Given the description of an element on the screen output the (x, y) to click on. 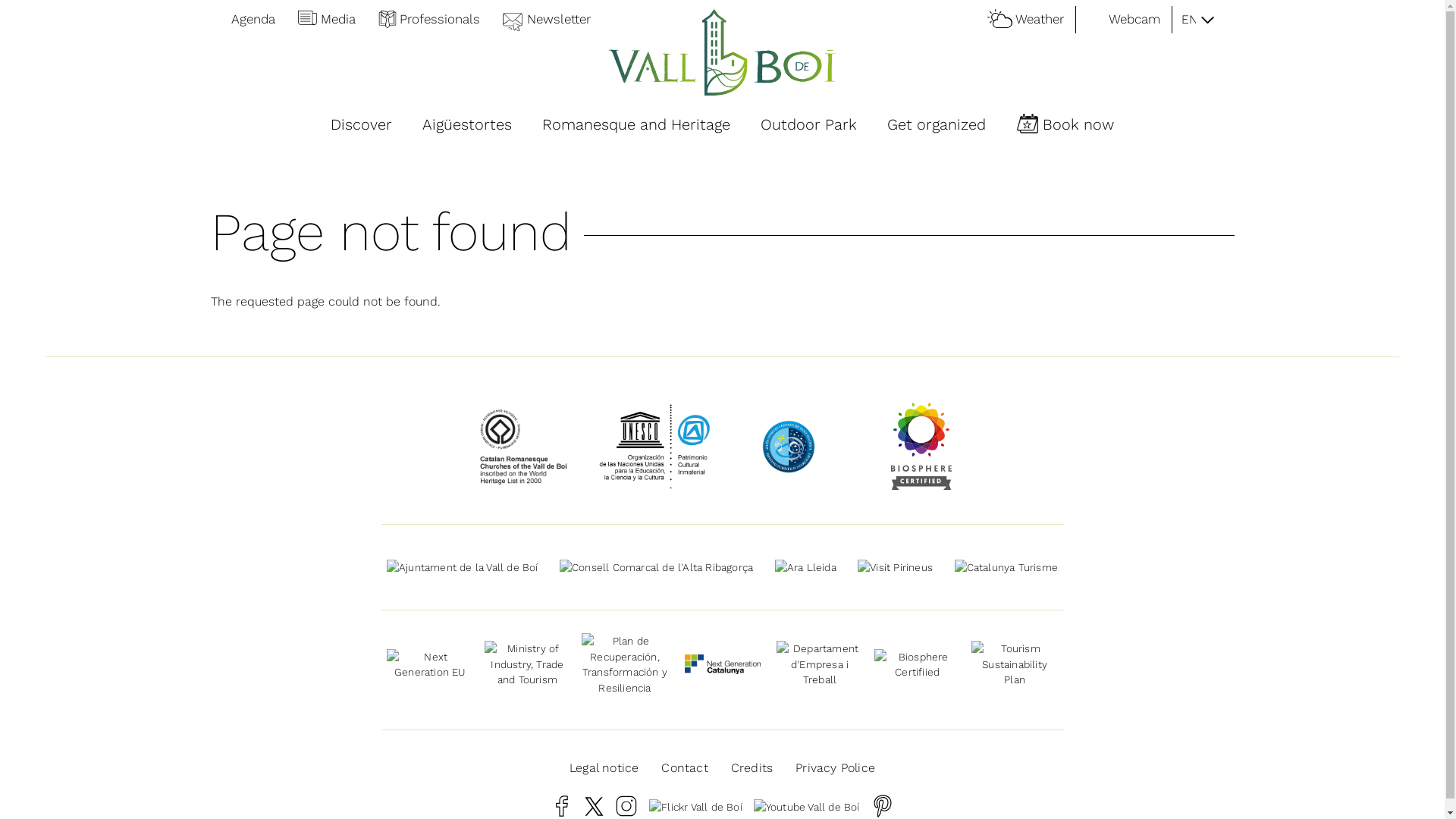
Book now Element type: text (1072, 126)
Agenda Element type: text (248, 19)
Biosphere Certifiied Element type: hover (917, 664)
Legal notice Element type: text (603, 768)
Visit Pirineus Element type: hover (894, 567)
Starlight Destination Element type: hover (788, 446)
Romanesque and Heritage Element type: text (636, 126)
Tourism Sustainability Plan Element type: hover (1014, 663)
Credits Element type: text (751, 768)
Get organized Element type: text (936, 126)
Biosphere Certifiied Element type: hover (921, 445)
Contact Element type: text (684, 768)
Newsletter Element type: text (551, 19)
Intangible cultural heritage Element type: hover (655, 446)
Visit Pirineus Element type: hover (894, 566)
Flickr Element type: hover (695, 805)
Youtube Element type: hover (806, 805)
Catalunya Turisme Element type: hover (1005, 567)
Webcam Element type: text (1129, 19)
Instagram Element type: hover (626, 805)
Ara Lleida Element type: hover (805, 567)
Privacy Police Element type: text (835, 768)
Pinterest Element type: hover (882, 805)
Ara Lleida Element type: hover (805, 566)
Next Generation EU Element type: hover (429, 664)
Next Generation Catalunya Element type: hover (721, 664)
Discover Element type: text (361, 126)
Facebook Element type: hover (561, 805)
Outdoor Park Element type: text (808, 126)
Ministry of Industry, Trade and Tourism Element type: hover (527, 663)
Departament d'Empresa i Treball Element type: hover (819, 663)
Twitter Element type: hover (593, 806)
Catalunya Turisme Element type: hover (1005, 566)
Home Element type: hover (722, 51)
Weather Element type: text (1031, 19)
